Given the description of an element on the screen output the (x, y) to click on. 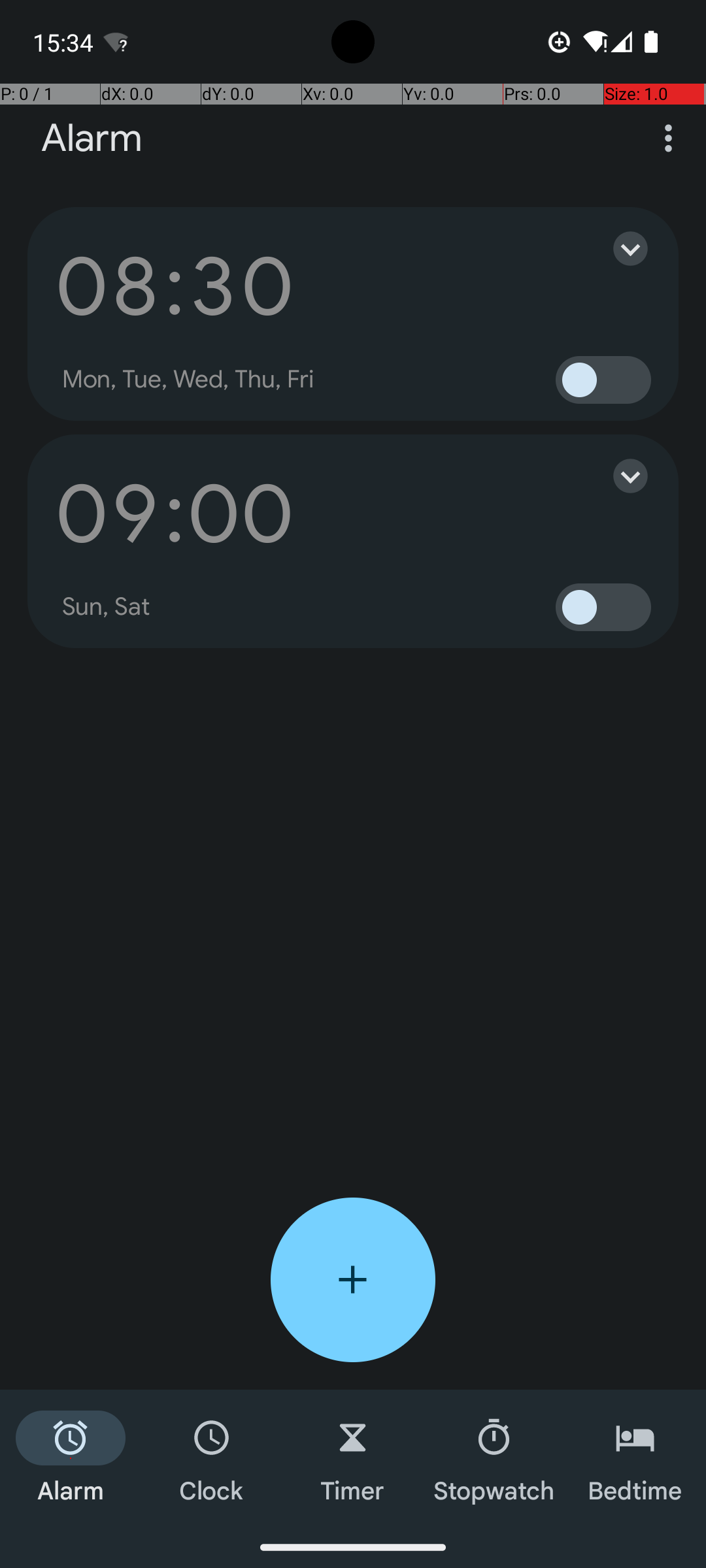
Sun, Sat Element type: android.widget.TextView (106, 606)
